Given the description of an element on the screen output the (x, y) to click on. 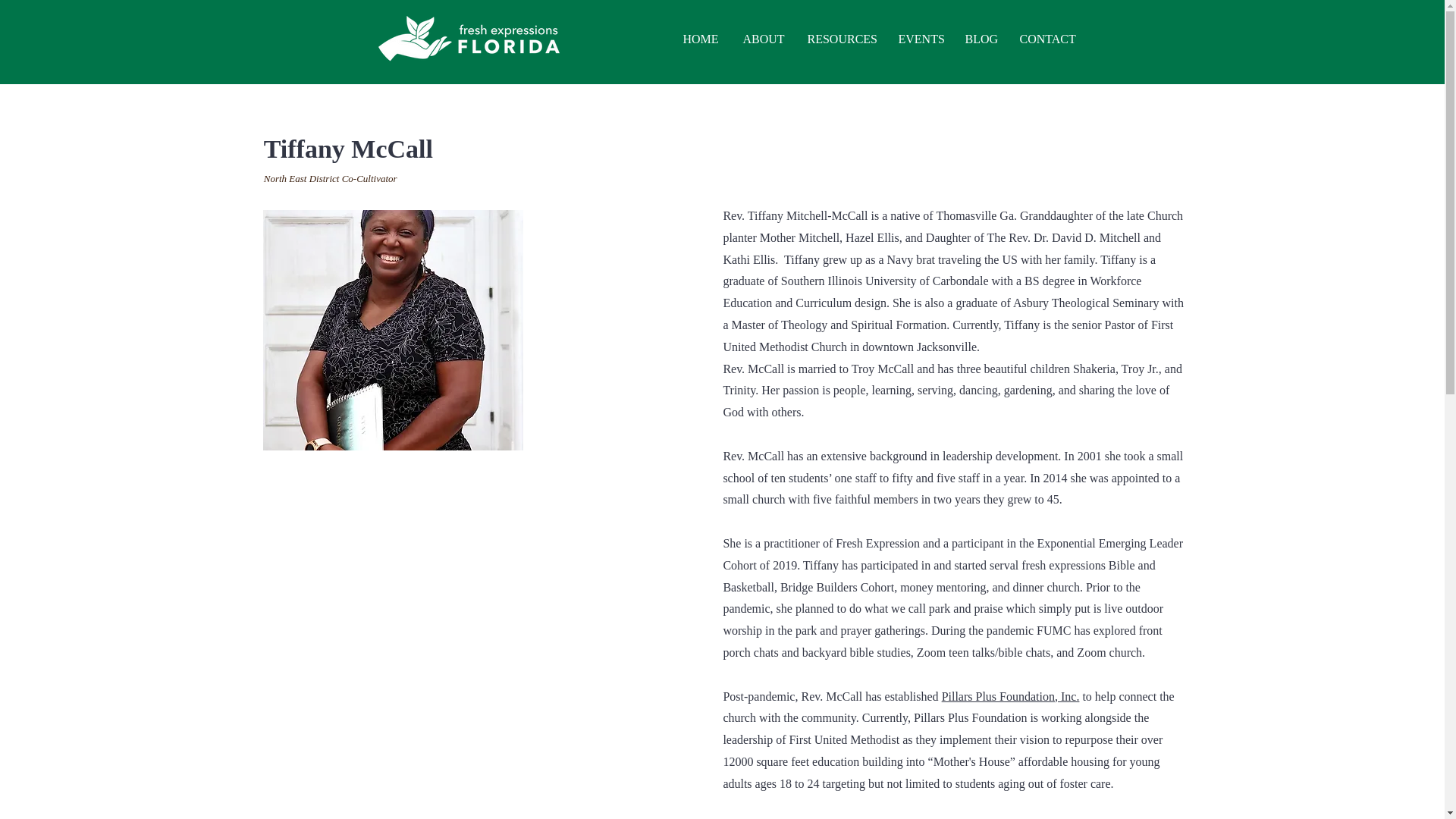
HOME (701, 38)
Pillars Plus Foundation, Inc. (1011, 696)
CONTACT (1048, 38)
BLOG (981, 38)
